Given the description of an element on the screen output the (x, y) to click on. 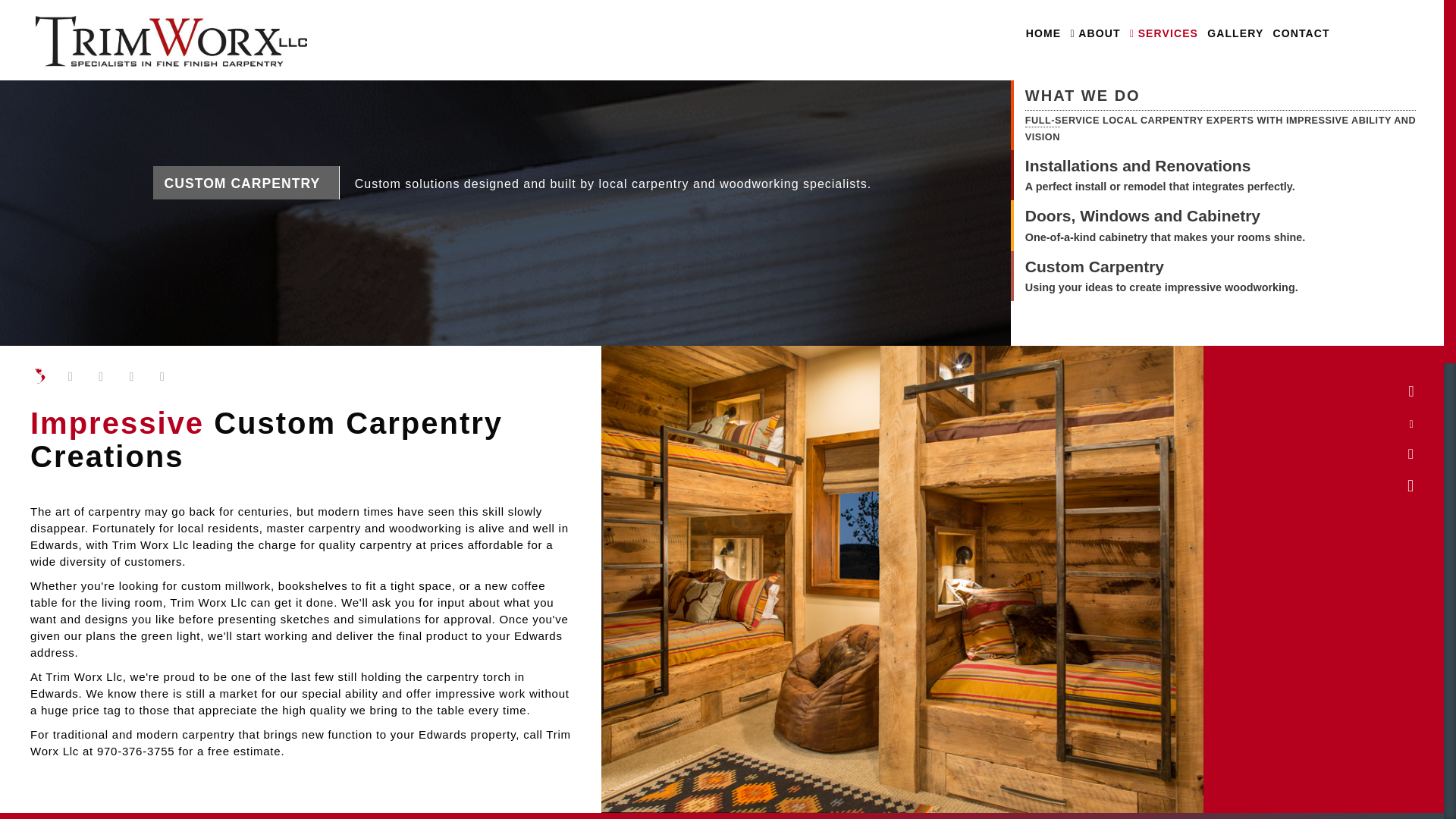
Doors, Windows and Cabinetry (1164, 215)
 SERVICES (1163, 33)
Installations and Renovations (1160, 165)
 ABOUT (1094, 33)
CONTACT (1301, 33)
Custom Carpentry (1161, 266)
GALLERY (1235, 33)
HOME  ABOUT  SERVICES GALLERY CONTACT (722, 40)
WHAT WE DO (1228, 96)
HOME (1043, 33)
